Given the description of an element on the screen output the (x, y) to click on. 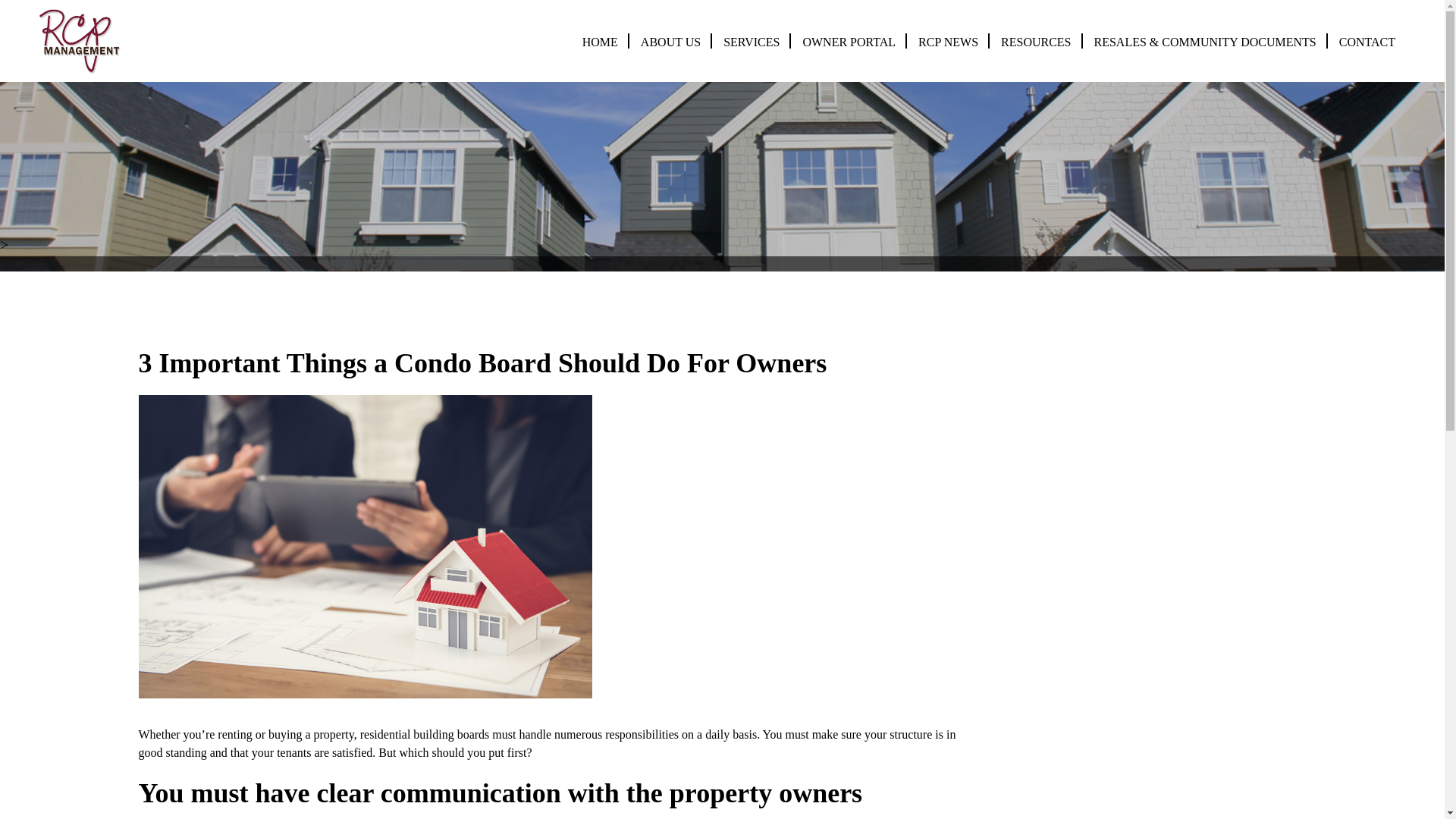
ABOUT US (670, 42)
SERVICES (750, 42)
HOME (599, 42)
RESOURCES (1035, 42)
CONTACT (1366, 42)
OWNER PORTAL (848, 42)
RCP NEWS (948, 42)
